Given the description of an element on the screen output the (x, y) to click on. 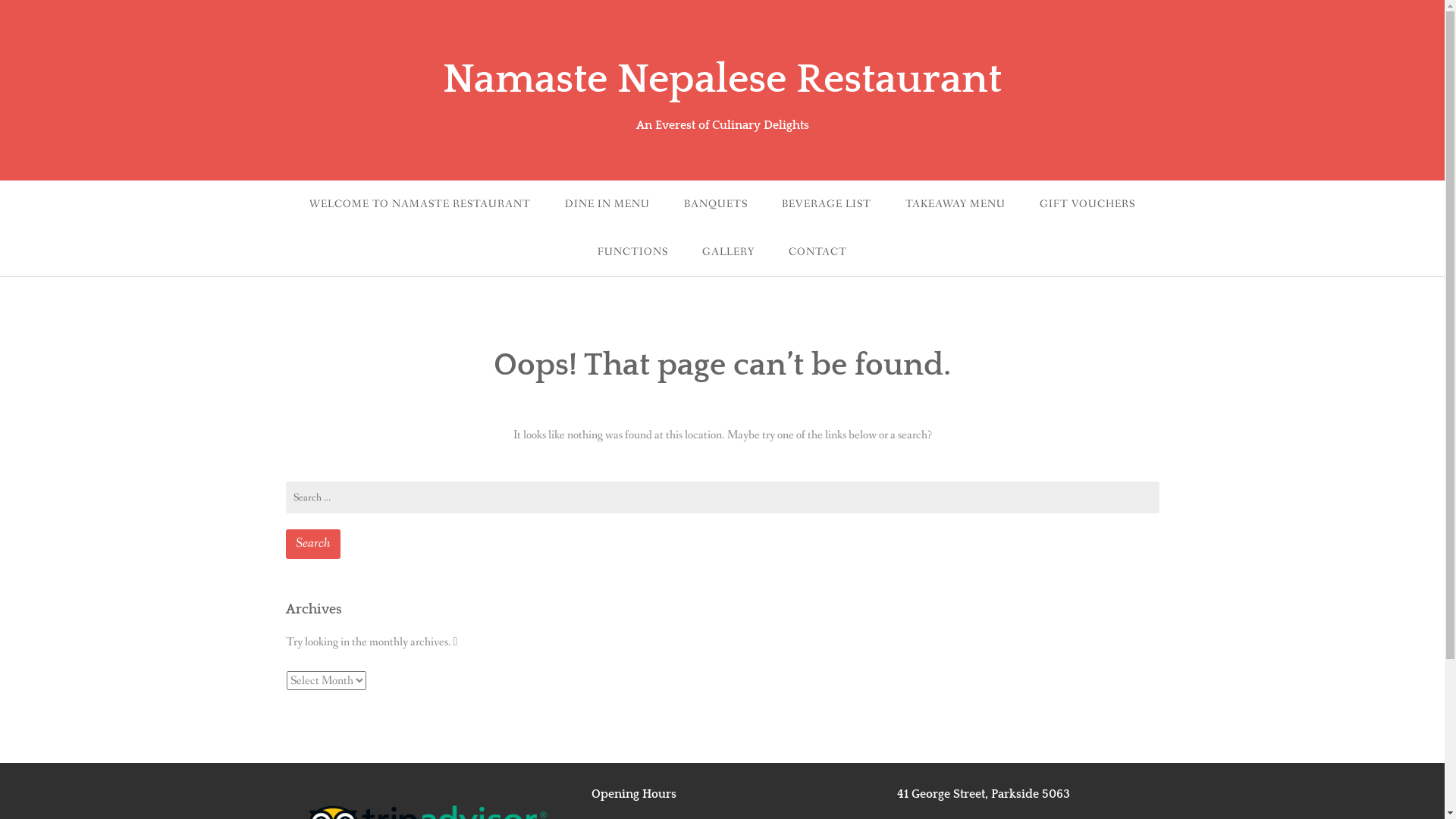
Search Element type: text (312, 544)
GIFT VOUCHERS Element type: text (1087, 204)
BANQUETS Element type: text (715, 204)
FUNCTIONS Element type: text (632, 252)
Namaste Nepalese Restaurant Element type: text (721, 79)
CONTACT Element type: text (817, 252)
WELCOME TO NAMASTE RESTAURANT Element type: text (419, 204)
BEVERAGE LIST Element type: text (826, 204)
TAKEAWAY MENU Element type: text (955, 204)
GALLERY Element type: text (728, 252)
DINE IN MENU Element type: text (607, 204)
